Given the description of an element on the screen output the (x, y) to click on. 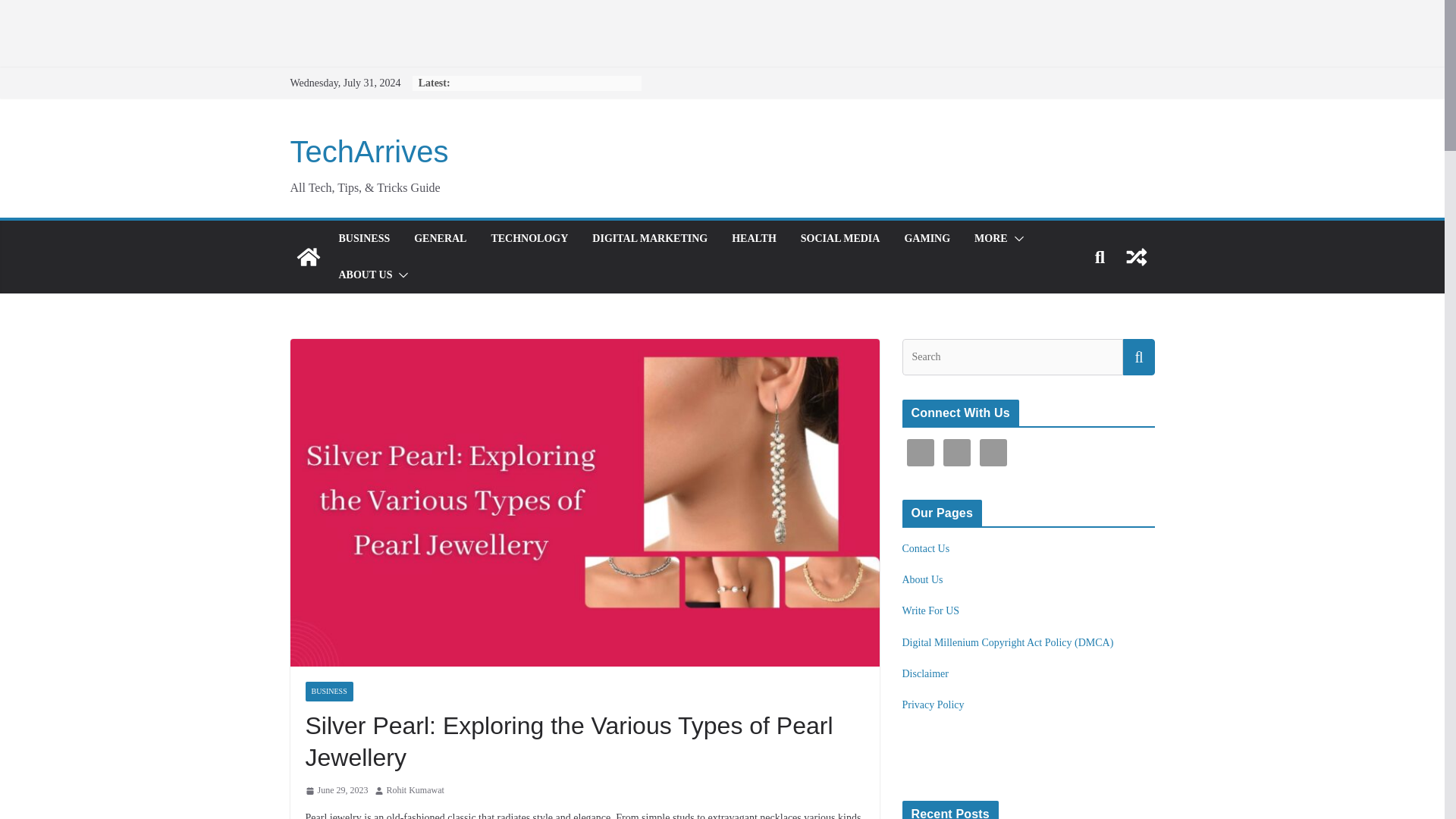
Rohit Kumawat (415, 790)
SOCIAL MEDIA (840, 238)
BUSINESS (328, 691)
GENERAL (439, 238)
TECHNOLOGY (528, 238)
HEALTH (754, 238)
ABOUT US (364, 274)
TechArrives (368, 151)
TechArrives (368, 151)
Rohit Kumawat (415, 790)
BUSINESS (363, 238)
June 29, 2023 (336, 790)
DIGITAL MARKETING (649, 238)
7:02 am (336, 790)
TechArrives (307, 257)
